Given the description of an element on the screen output the (x, y) to click on. 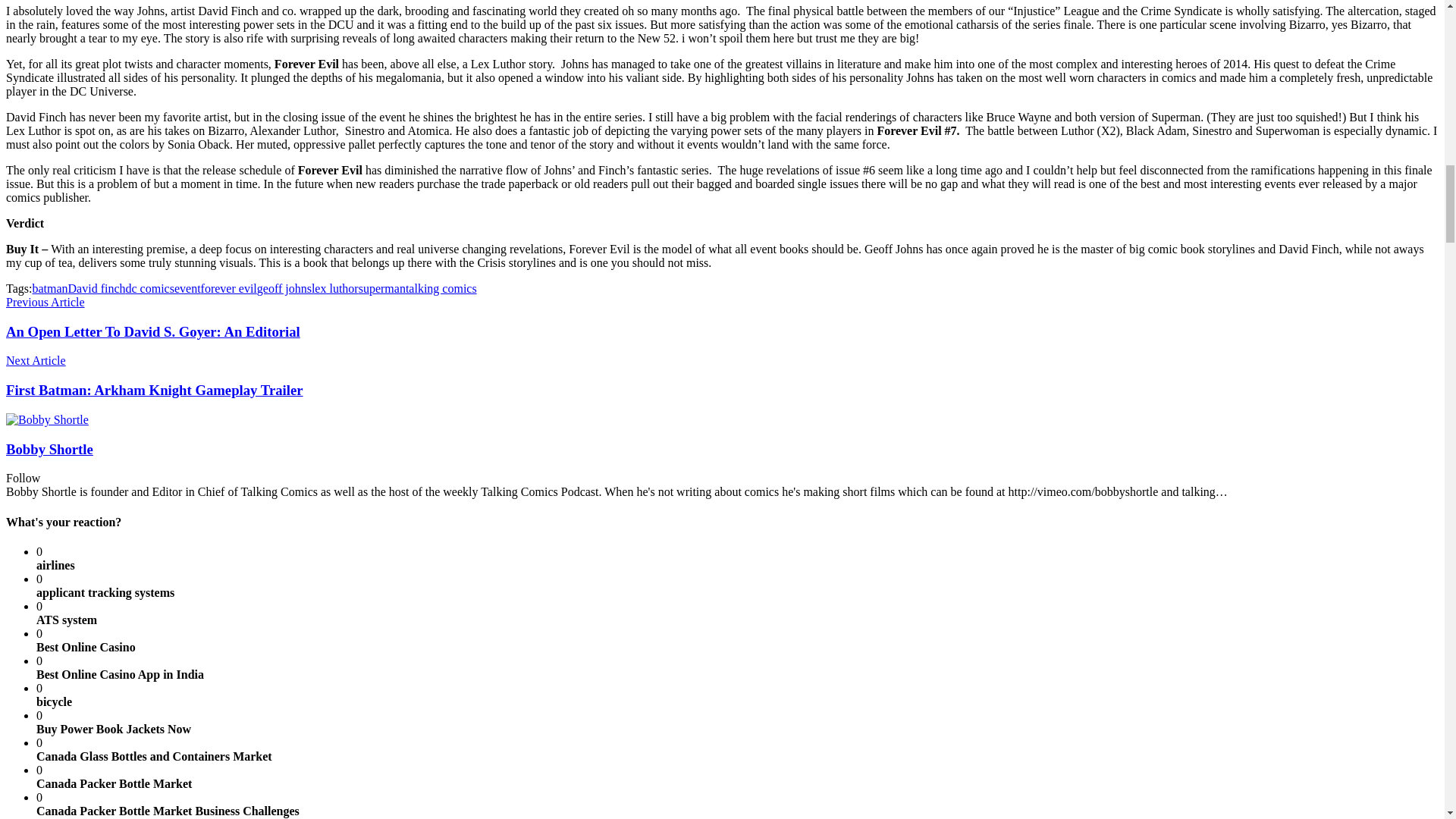
superman (382, 287)
lex luthor (334, 287)
dc comics (149, 287)
event (187, 287)
forever evil (228, 287)
geoff johns (284, 287)
David finch (96, 287)
batman (49, 287)
